Given the description of an element on the screen output the (x, y) to click on. 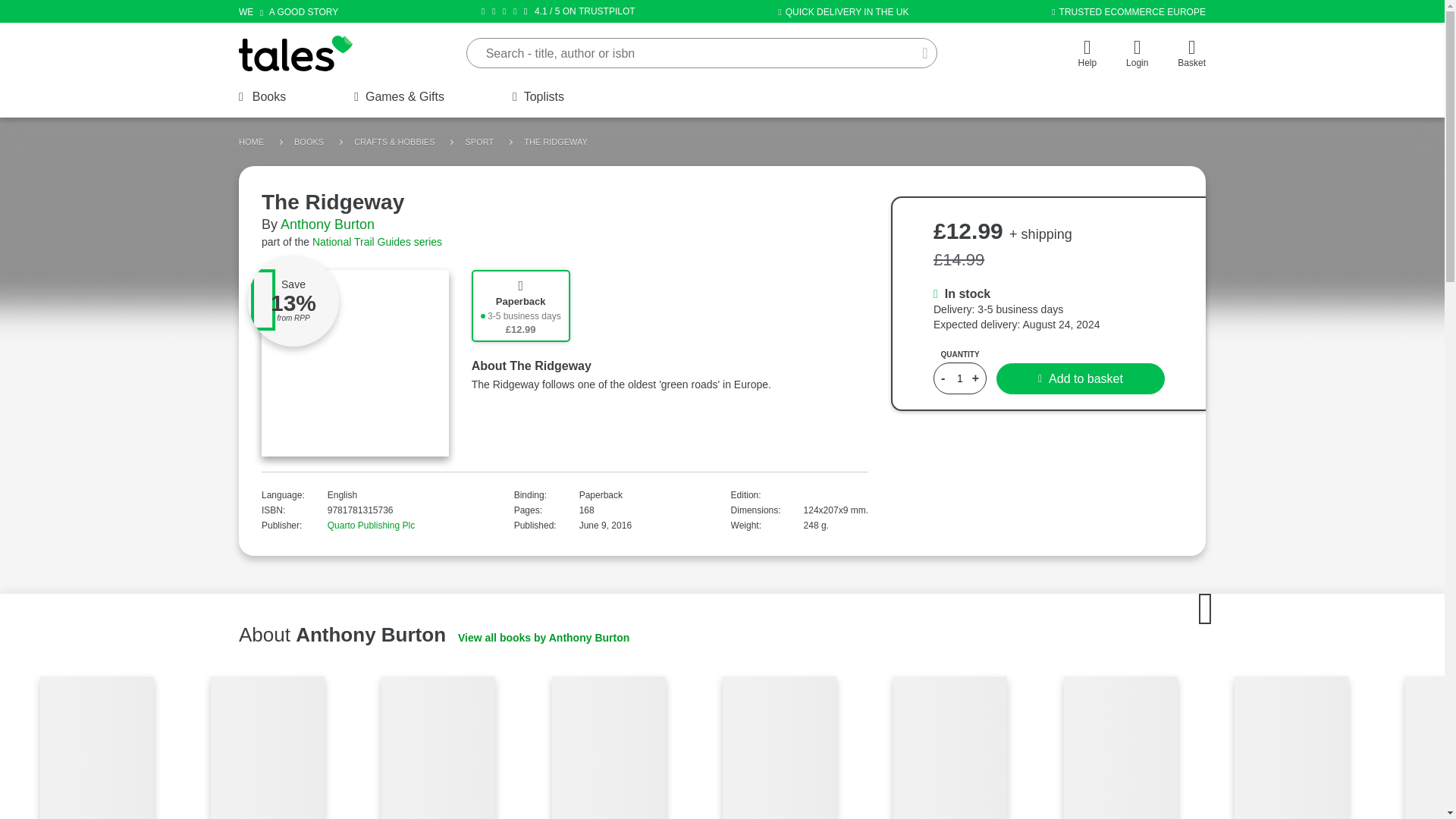
Books (261, 97)
tales.as (295, 53)
SPORT (478, 141)
TRUSTED ECOMMERCE EUROPE (1128, 10)
HOME (250, 141)
Toplists (538, 97)
BOOKS (308, 141)
Login (1136, 55)
Basket (1191, 55)
Anthony Burton (327, 224)
